Given the description of an element on the screen output the (x, y) to click on. 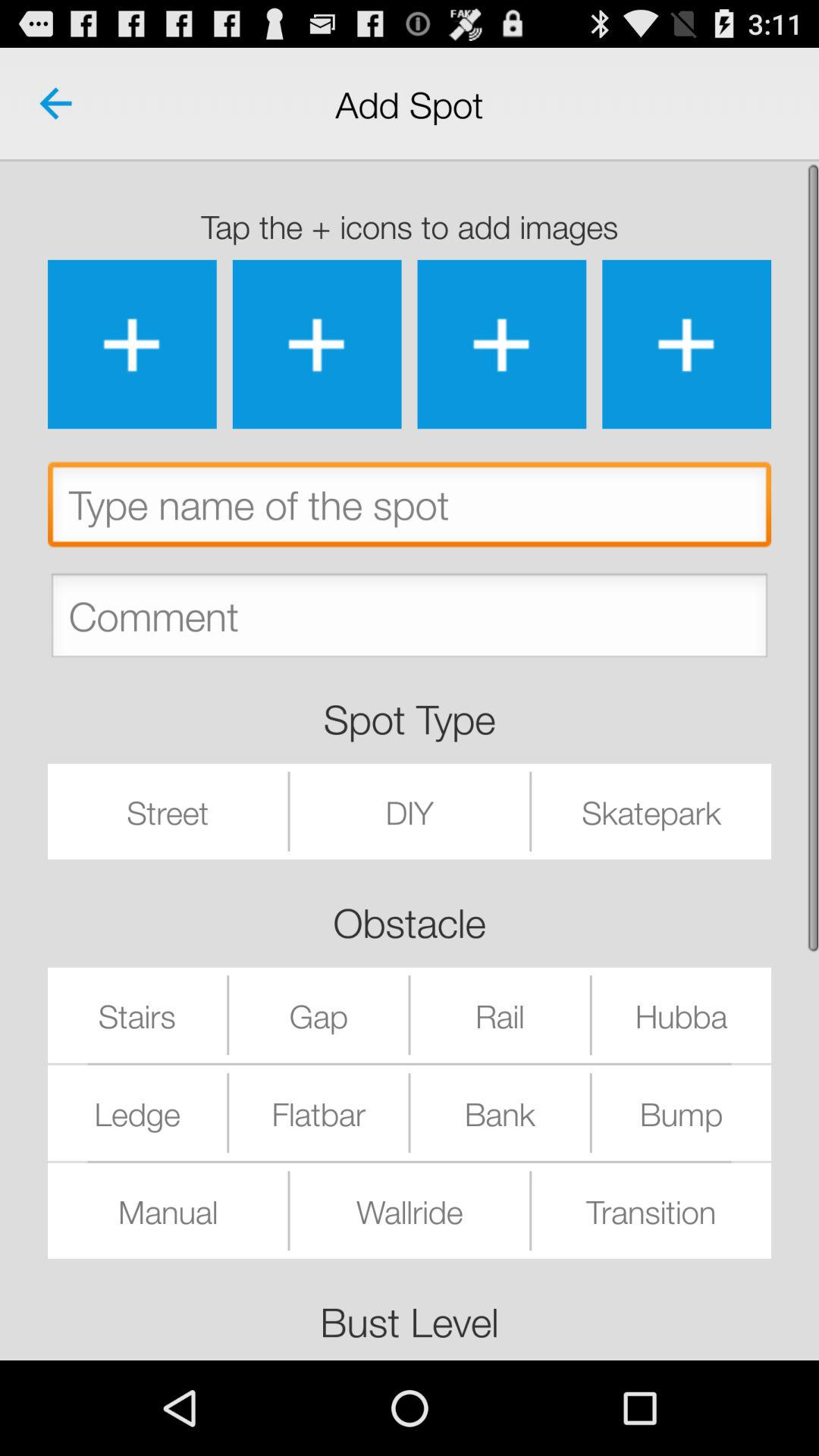
add the images (501, 343)
